Given the description of an element on the screen output the (x, y) to click on. 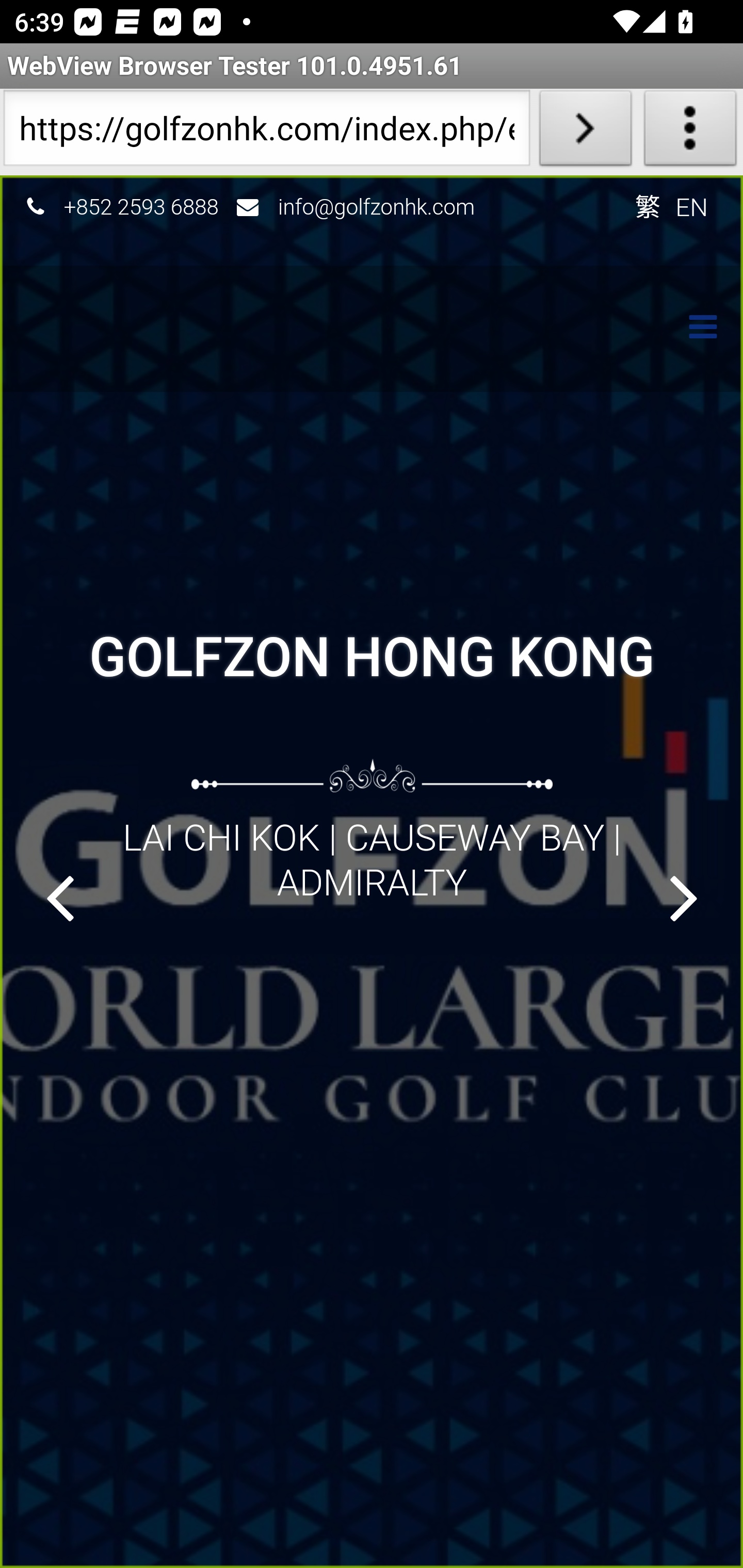
Load URL (585, 132)
About WebView (690, 132)
info@golfzonhk.com (377, 205)
繁 (647, 205)
EN (692, 205)
 (693, 328)
 (59, 897)
 (684, 897)
